Given the description of an element on the screen output the (x, y) to click on. 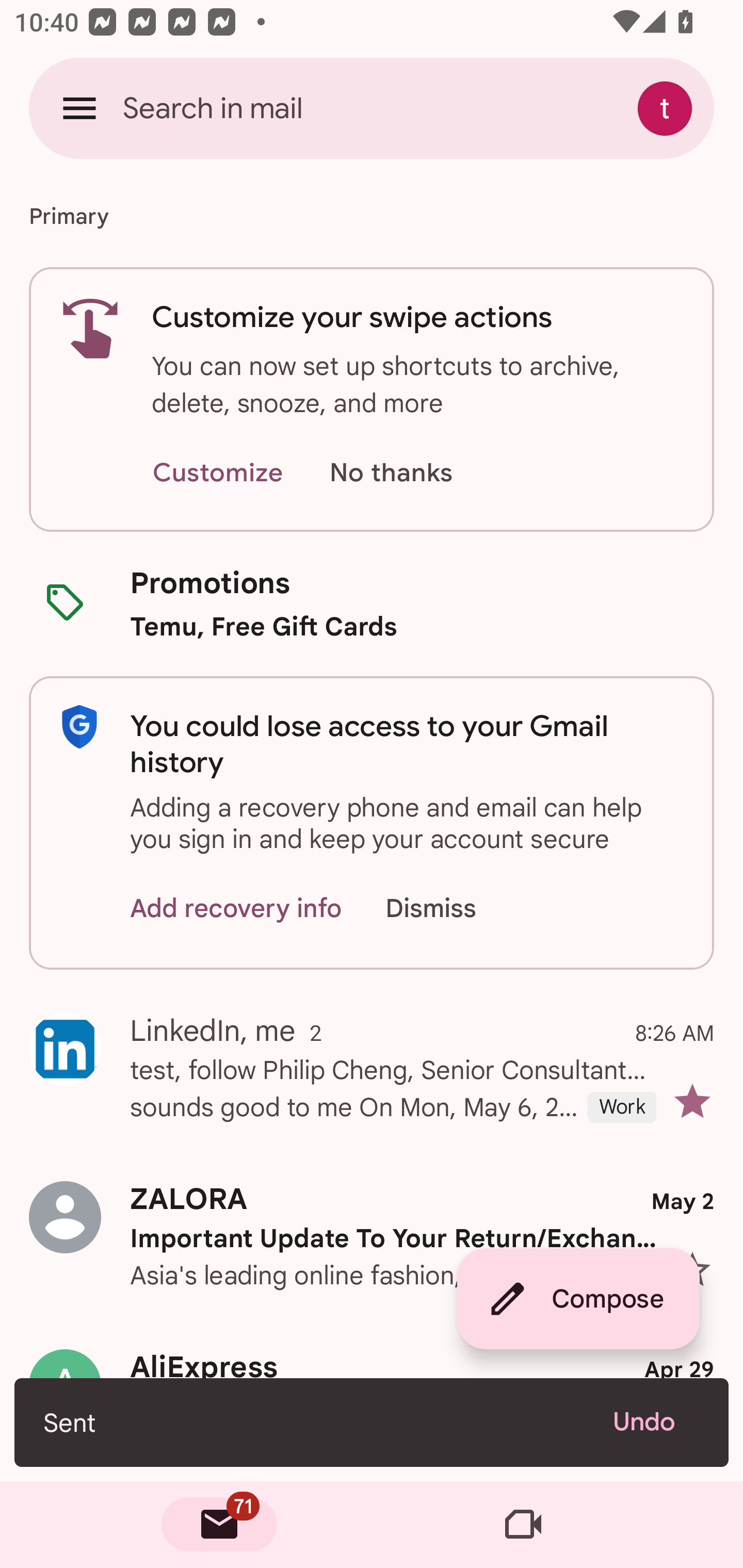
Open navigation drawer (79, 108)
Customize (217, 473)
No thanks (390, 473)
Promotions Temu, Free Gift Cards (371, 603)
Add recovery info (235, 908)
Dismiss (449, 908)
Compose (577, 1299)
Undo (655, 1422)
Meet (523, 1524)
